Given the description of an element on the screen output the (x, y) to click on. 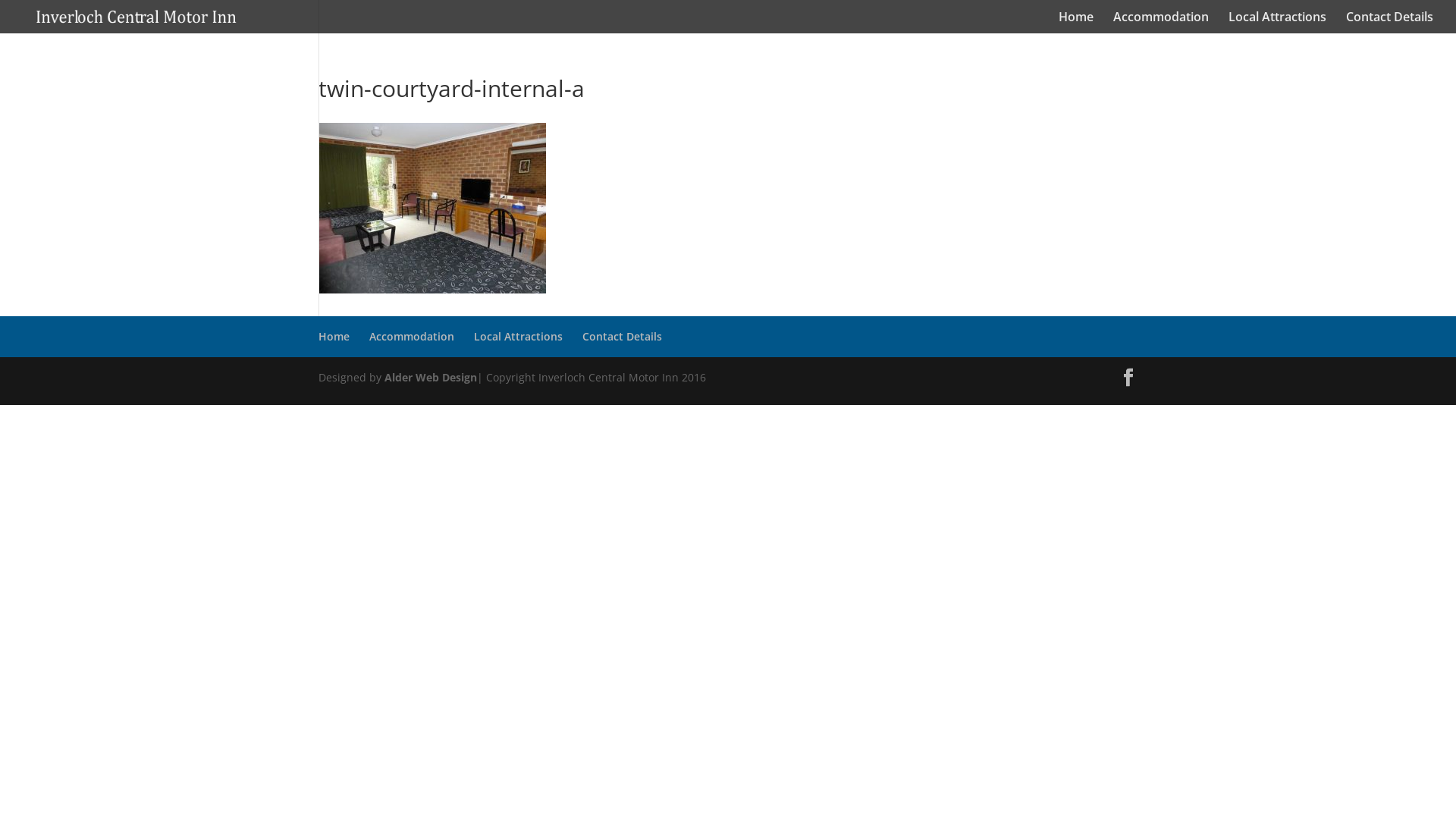
Alder Web Design Element type: text (430, 377)
Accommodation Element type: text (411, 336)
Accommodation Element type: text (1160, 22)
Home Element type: text (1075, 22)
Contact Details Element type: text (1389, 22)
Local Attractions Element type: text (517, 336)
Home Element type: text (333, 336)
Local Attractions Element type: text (1277, 22)
Contact Details Element type: text (622, 336)
